Given the description of an element on the screen output the (x, y) to click on. 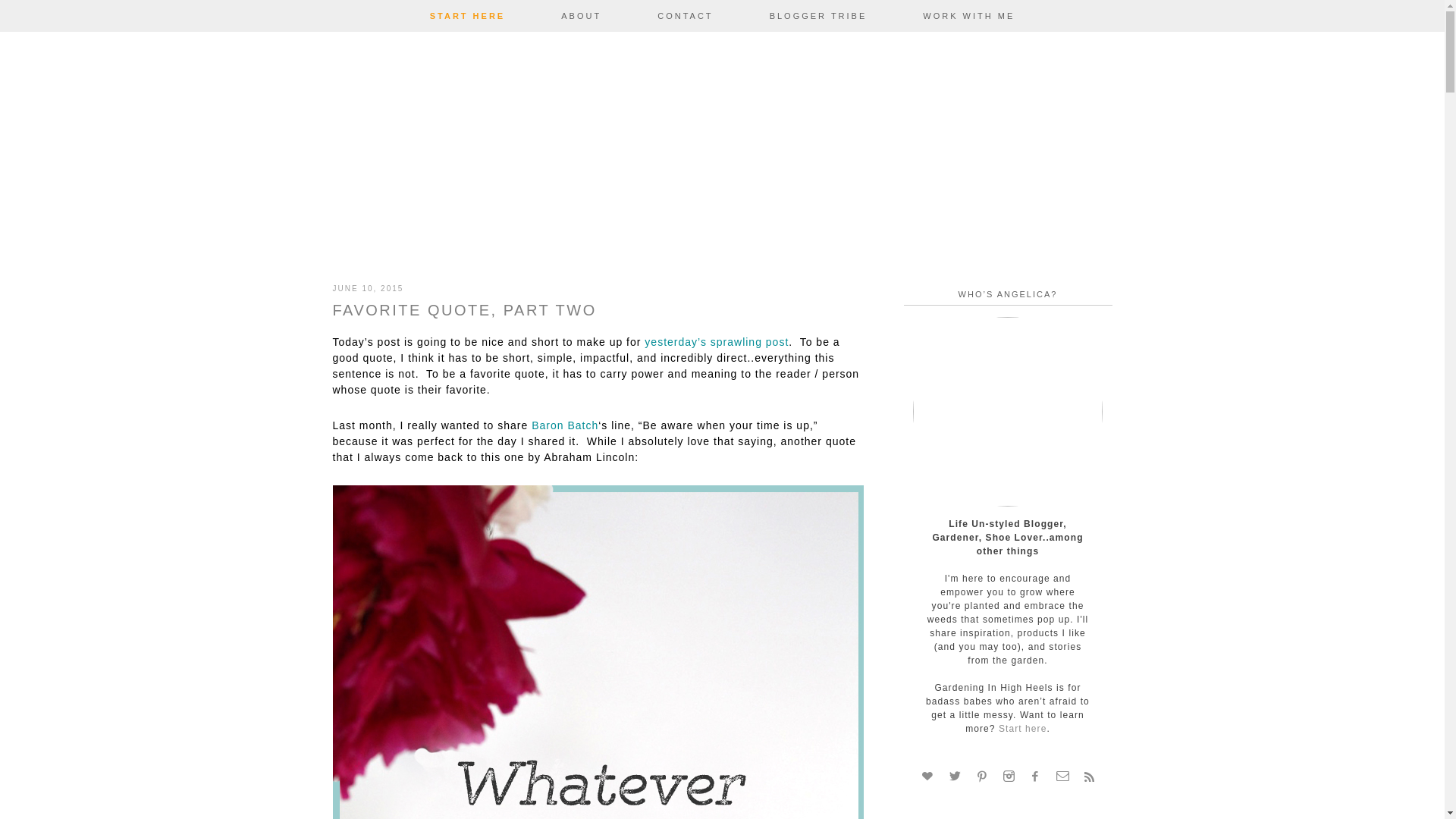
GARDENING IN HIGH HEELS (721, 148)
Baron Batch (564, 424)
CONTACT (684, 15)
START HERE (467, 15)
BLOGGER TRIBE (817, 15)
FAVORITE QUOTE, PART TWO (463, 310)
ABOUT (580, 15)
WORK WITH ME (968, 15)
